Given the description of an element on the screen output the (x, y) to click on. 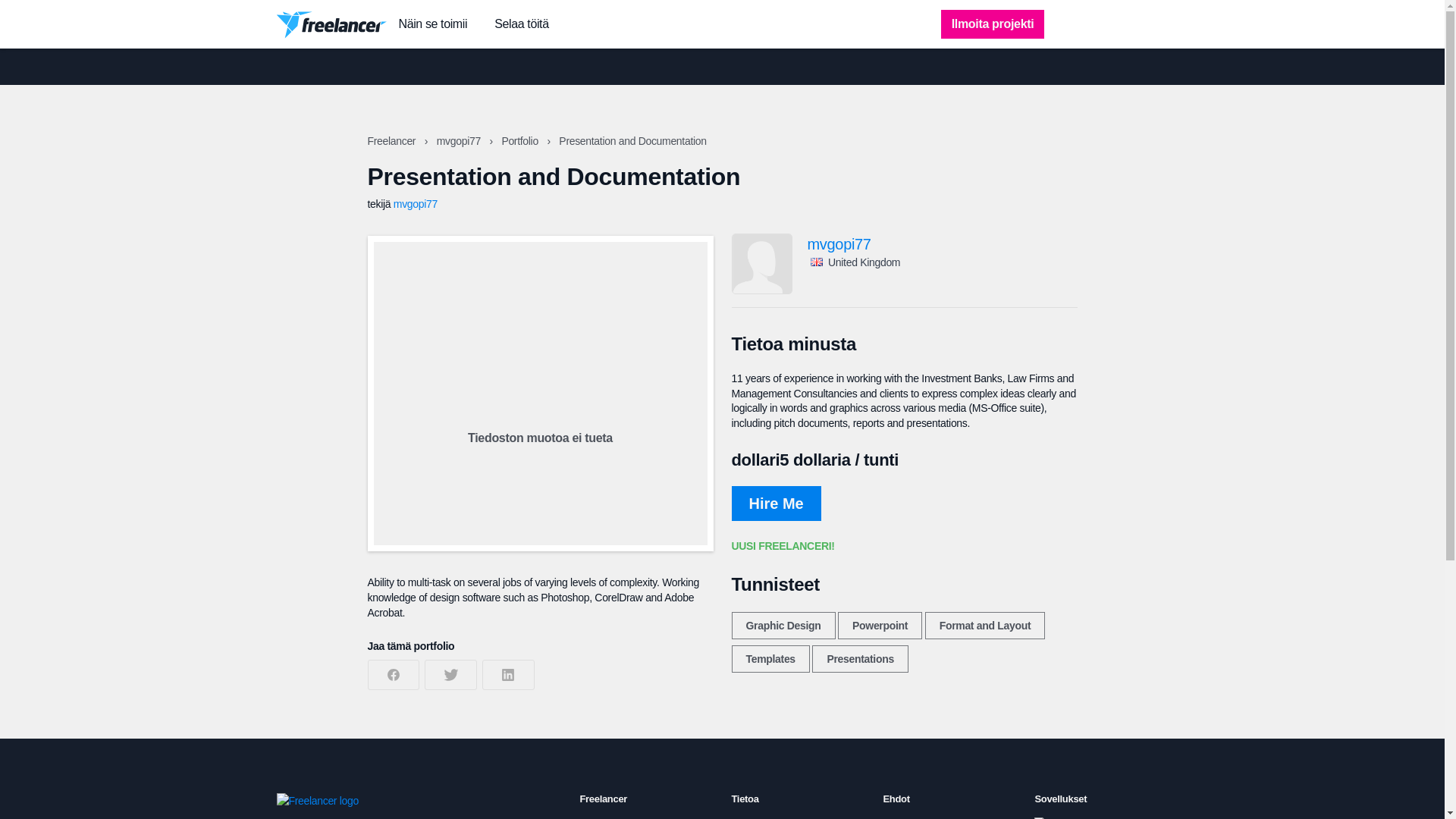
Powerpoint (879, 625)
Hire Me (775, 503)
Lataa App Storesta (1085, 818)
mvgopi77 (941, 243)
mvgopi77 (415, 203)
Flag of United Kingdom (815, 261)
Presentations (859, 658)
Format and Layout (984, 625)
mvgopi77 (459, 141)
Jaa Facebookissa (392, 675)
